Given the description of an element on the screen output the (x, y) to click on. 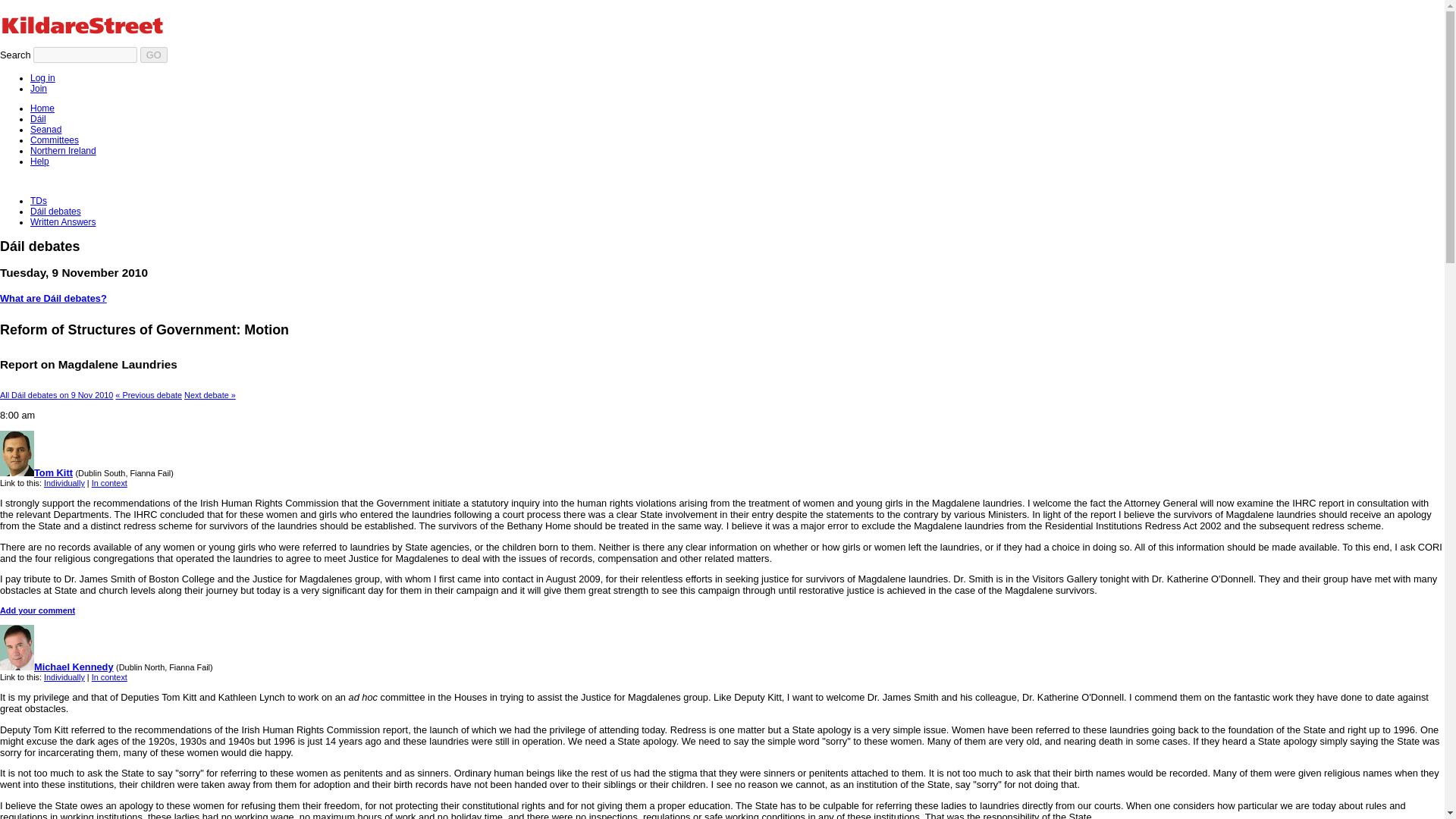
Seanad (45, 129)
Job Creation (148, 394)
State Procurement Contracts (209, 394)
Log in (42, 77)
Tom Kitt (36, 472)
Oireachtas Joint and Select Committees (54, 140)
Join (38, 88)
GO (153, 54)
If you've already joined, log in to post comments (42, 77)
Comment on this (37, 610)
To the front page of the site (111, 26)
In context (109, 676)
The front page of the site (42, 108)
See more information about Tom Kitt (36, 472)
Committees (54, 140)
